Given the description of an element on the screen output the (x, y) to click on. 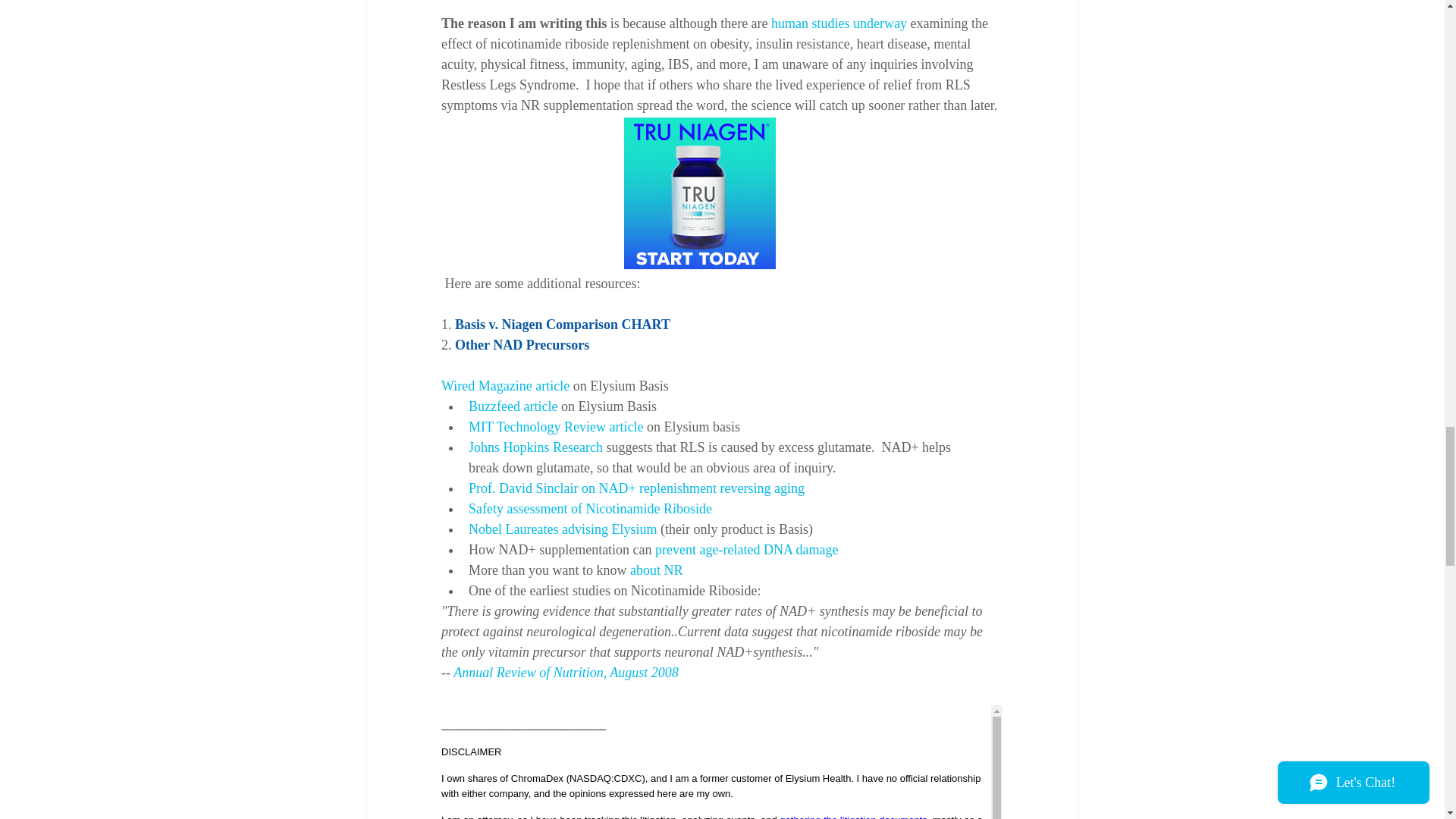
human studies underway (839, 23)
prevent age-related DNA damage (746, 549)
Wired Magazine article (505, 385)
Nobel Laureates advising Elysium (562, 529)
remote content (720, 194)
Johns Hopkins Research (535, 447)
about NR (655, 570)
Buzzfeed article (512, 406)
Other NAD Precursors (521, 344)
Safety assessment of Nicotinamide Riboside (589, 508)
remote content (722, 762)
Basis v. Niagen Comparison CHART (561, 324)
MIT Technology Review article (555, 426)
